Given the description of an element on the screen output the (x, y) to click on. 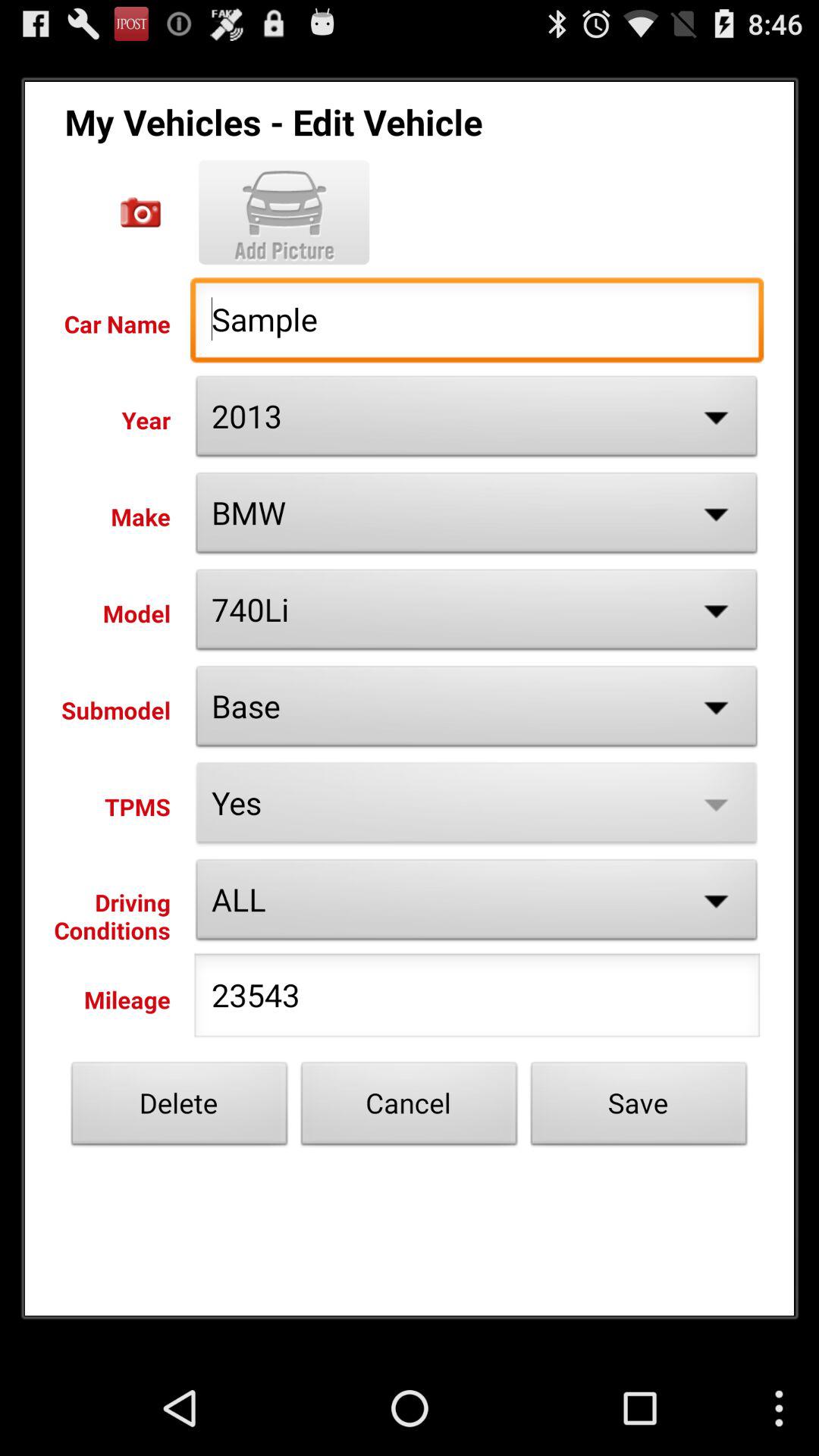
add photo (283, 212)
